Given the description of an element on the screen output the (x, y) to click on. 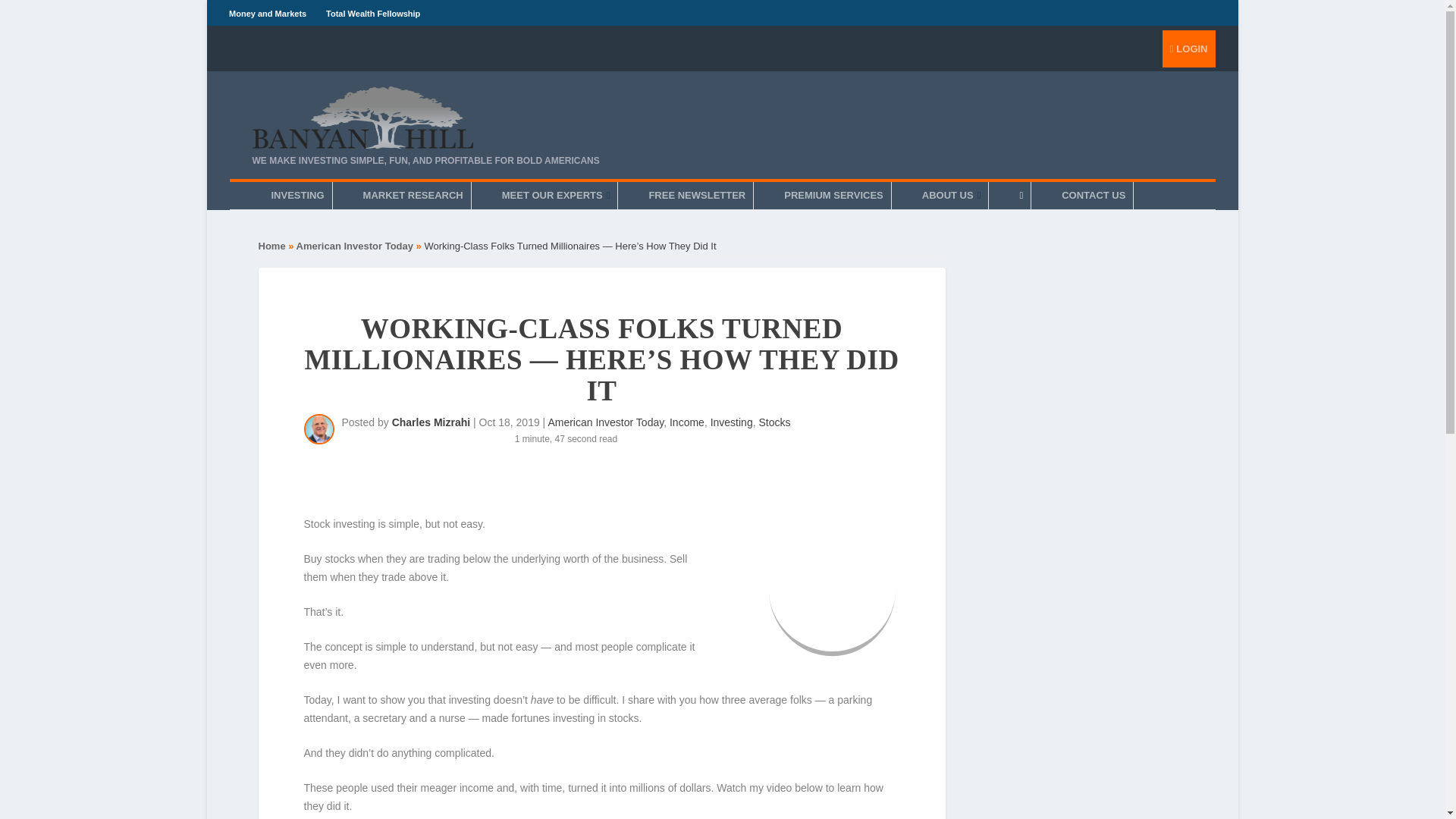
MARKET RESEARCH (412, 195)
FREE NEWSLETTER (696, 195)
American Investor Today (355, 245)
ABOUT US (951, 195)
Stocks (774, 422)
American Investor Today (605, 422)
Money and Markets (266, 13)
PREMIUM SERVICES (833, 195)
Posts by Charles Mizrahi (430, 422)
Income (686, 422)
Home (271, 245)
Charles Mizrahi (430, 422)
INVESTING (297, 195)
Market Research (412, 195)
Total Wealth Fellowship (373, 13)
